Given the description of an element on the screen output the (x, y) to click on. 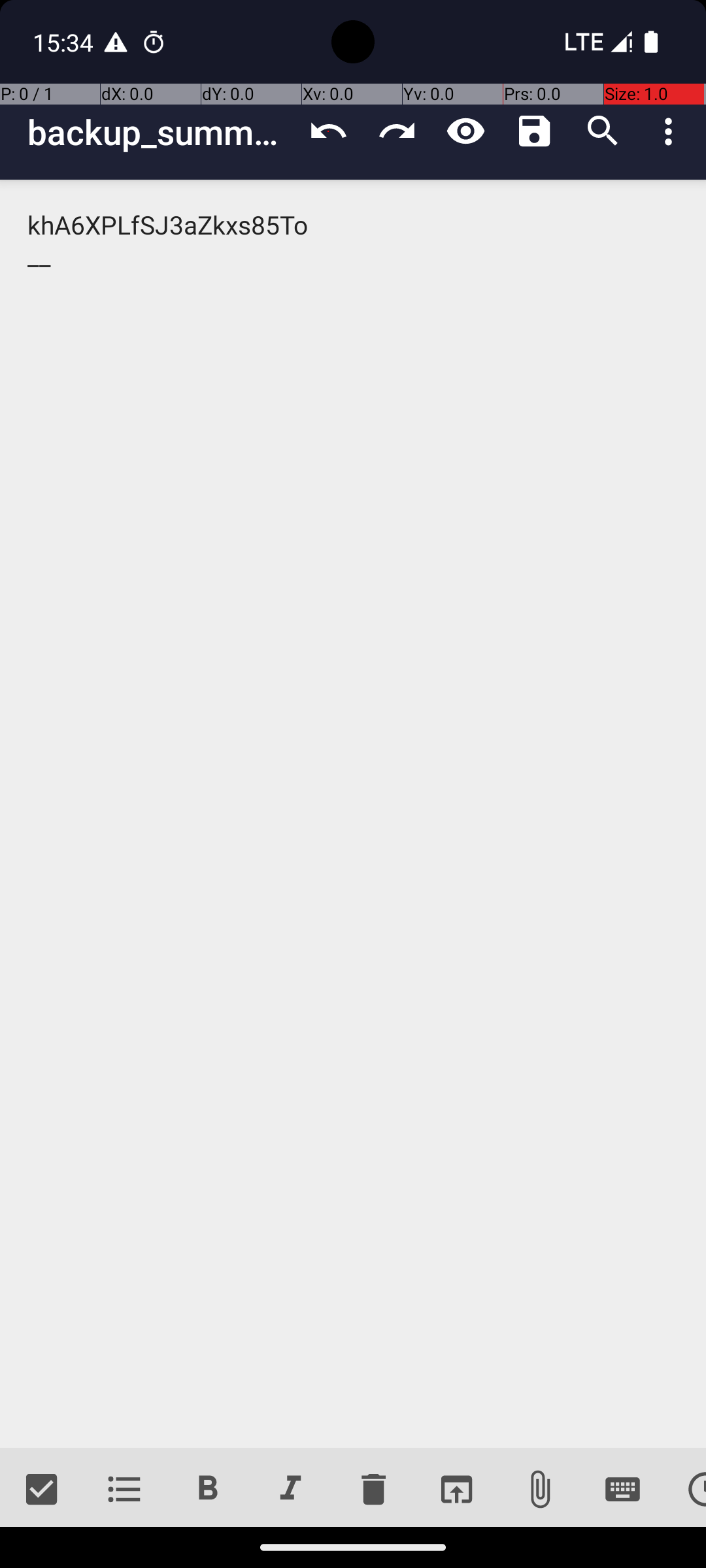
backup_summer_vacation_plans Element type: android.widget.TextView (160, 131)
khA6XPLfSJ3aZkxs85To
___ Element type: android.widget.EditText (353, 813)
